Given the description of an element on the screen output the (x, y) to click on. 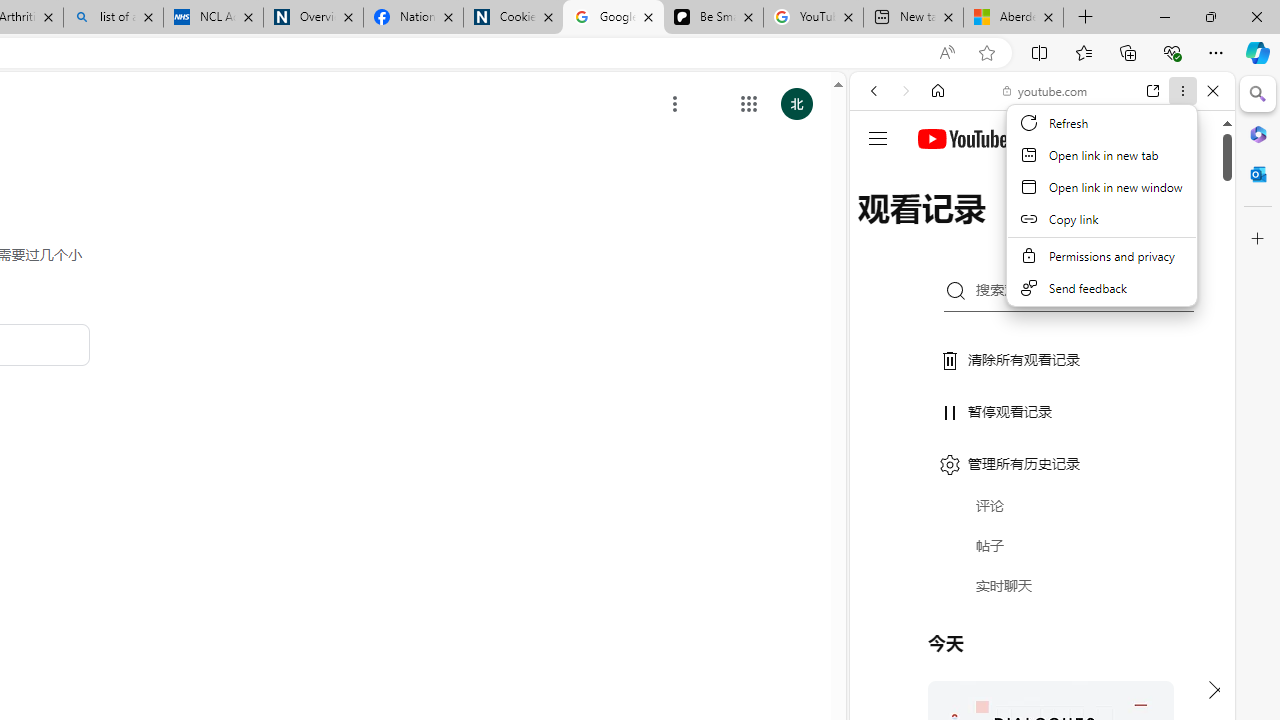
Search videos from youtube.com (1005, 657)
Send feedback (1101, 287)
Web scope (882, 180)
Class: Xviznc NMm5M (675, 103)
This site scope (936, 180)
Cookies (513, 17)
Music (1042, 543)
